Given the description of an element on the screen output the (x, y) to click on. 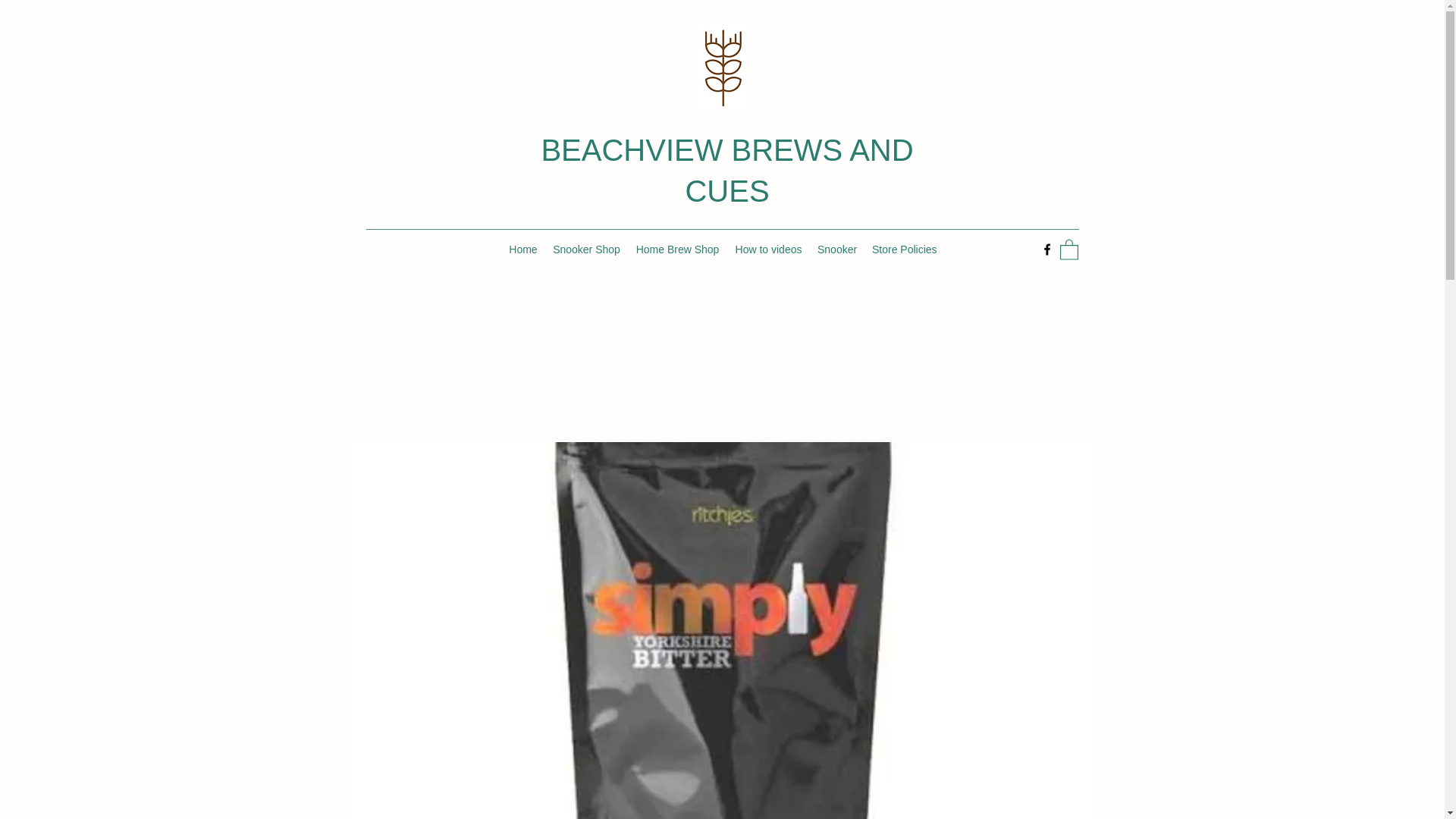
How to videos (767, 249)
Snooker Shop (585, 249)
Home (522, 249)
BEACHVIEW BREWS AND CUES (726, 170)
Snooker (836, 249)
Home Brew Shop (676, 249)
Store Policies (903, 249)
